Given the description of an element on the screen output the (x, y) to click on. 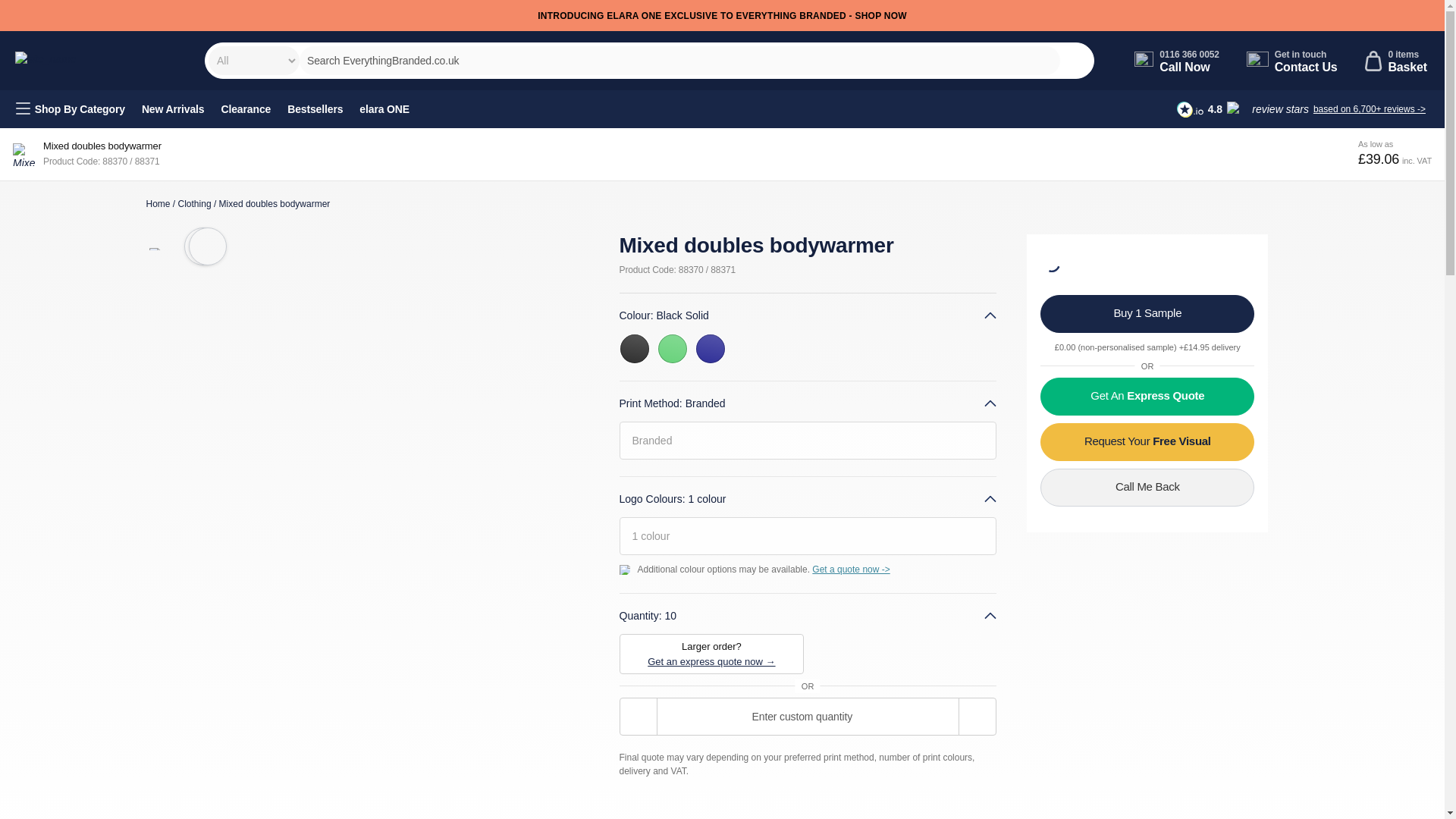
Shop By Category (1176, 59)
125 (1395, 59)
Clearance (70, 108)
Bestsellers (1291, 59)
Clothing (245, 109)
Home (1147, 442)
Submit (314, 109)
Buy 1 Sample (194, 204)
Call Me Back (157, 204)
2222 (22, 9)
elara ONE (1147, 313)
